Given the description of an element on the screen output the (x, y) to click on. 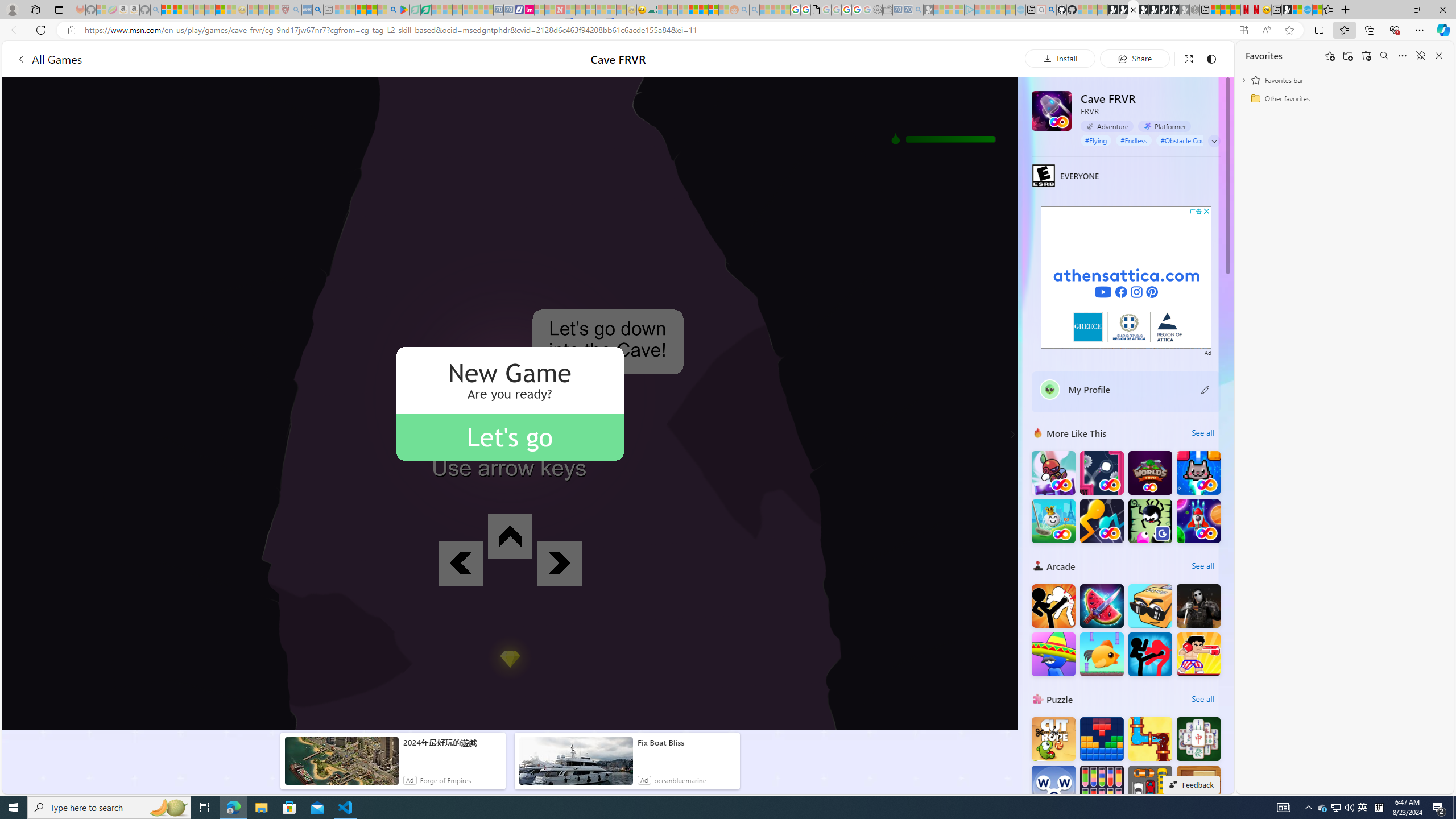
Cubes2048 (1149, 605)
google_privacy_policy_zh-CN.pdf (815, 9)
Add this page to favorites (1330, 55)
Boxing fighter : Super punch (1198, 653)
All Games (49, 58)
More Like This (1037, 432)
